Given the description of an element on the screen output the (x, y) to click on. 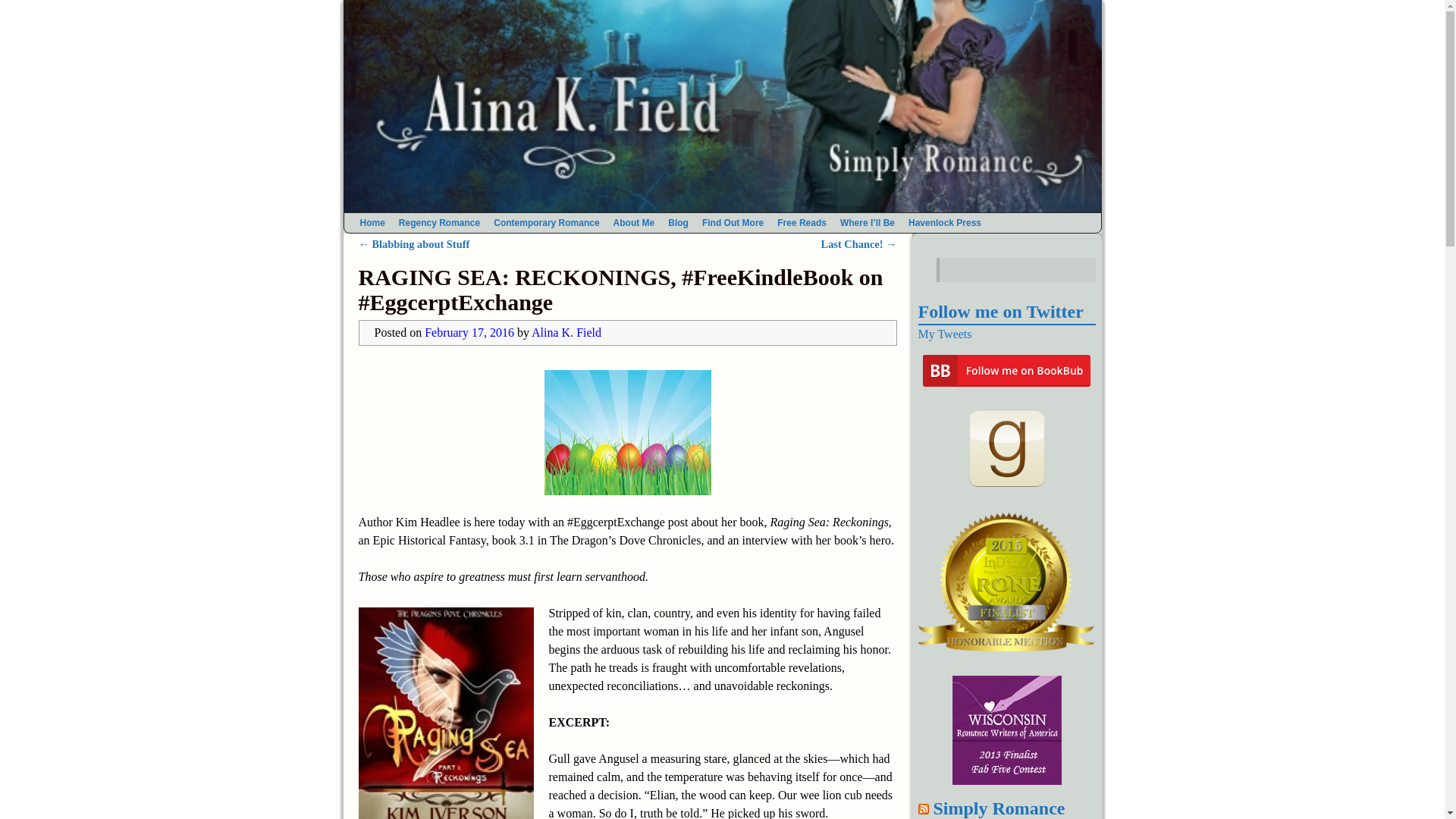
Regency Romance (438, 222)
About Me (634, 222)
View all posts by Alina K. Field (566, 332)
Contemporary Romance (545, 222)
Havenlock Press (944, 222)
Find Out More (732, 222)
Alina K. Field (566, 332)
February 17, 2016 (469, 332)
12:30 am (469, 332)
Blog (678, 222)
